Given the description of an element on the screen output the (x, y) to click on. 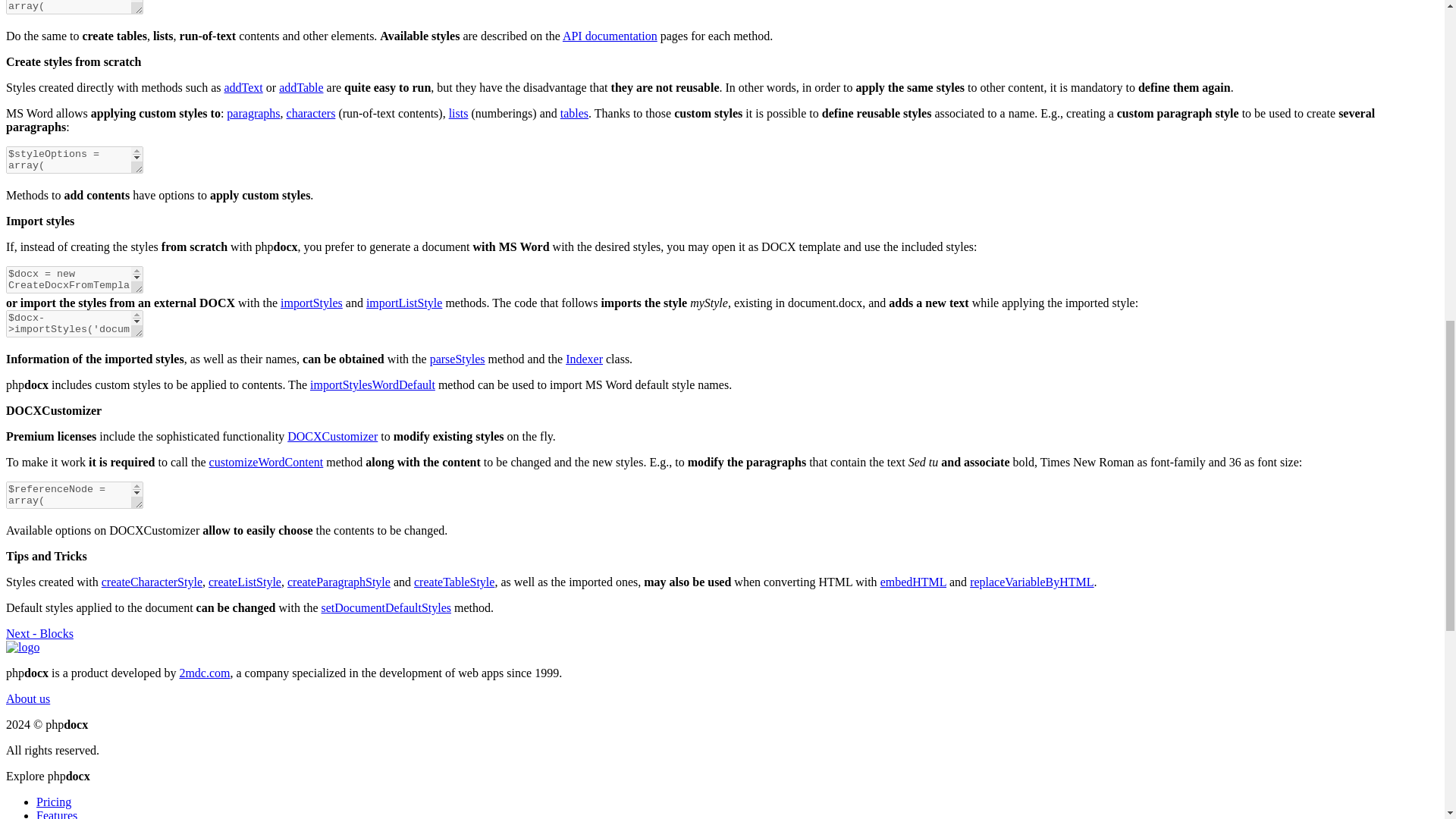
2mdc (204, 672)
Features (56, 814)
Home (22, 646)
API documentation (610, 35)
addTable (301, 87)
addText (243, 87)
Pricing (53, 801)
